Given the description of an element on the screen output the (x, y) to click on. 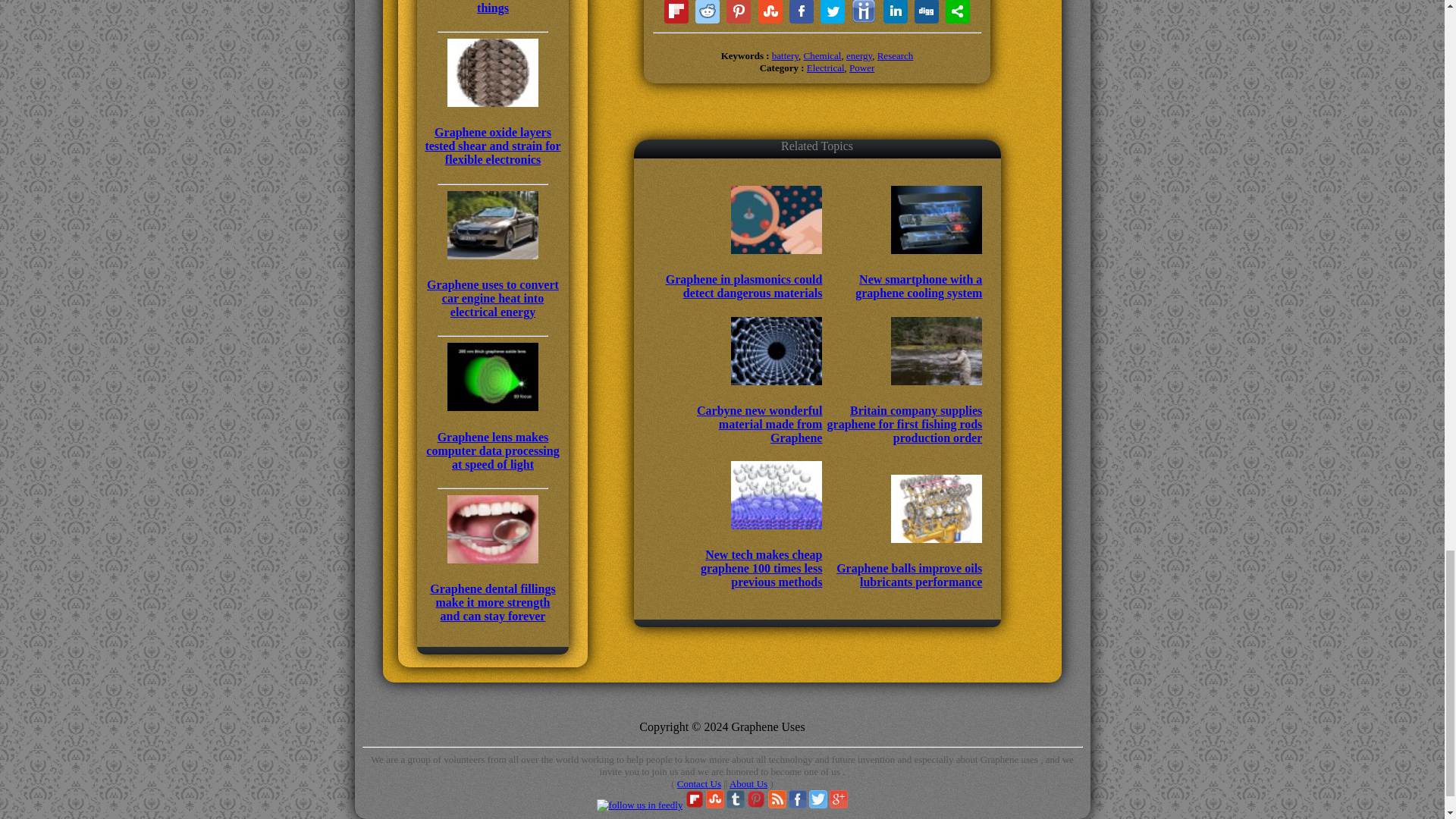
Carbyne new wonderful material made from Graphene (743, 409)
Graphene in plasmonics could detect dangerous materials (743, 271)
Research (895, 55)
energy (858, 55)
New smartphone with a graphene cooling system (903, 271)
Chemical (822, 55)
Electrical (825, 67)
battery (784, 55)
Power (861, 67)
Graphene radios may lead to Internet of nano-things (492, 7)
